Given the description of an element on the screen output the (x, y) to click on. 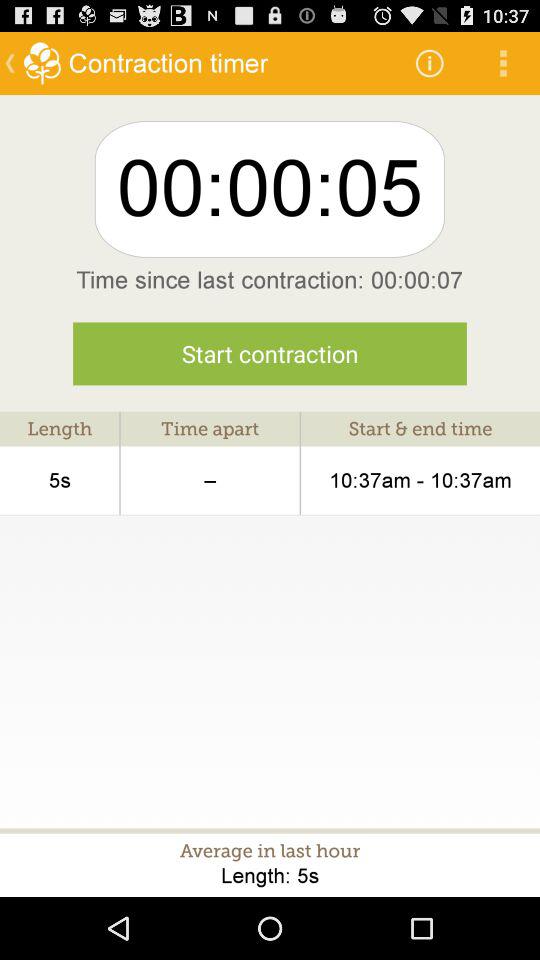
select item next to length icon (209, 480)
